Given the description of an element on the screen output the (x, y) to click on. 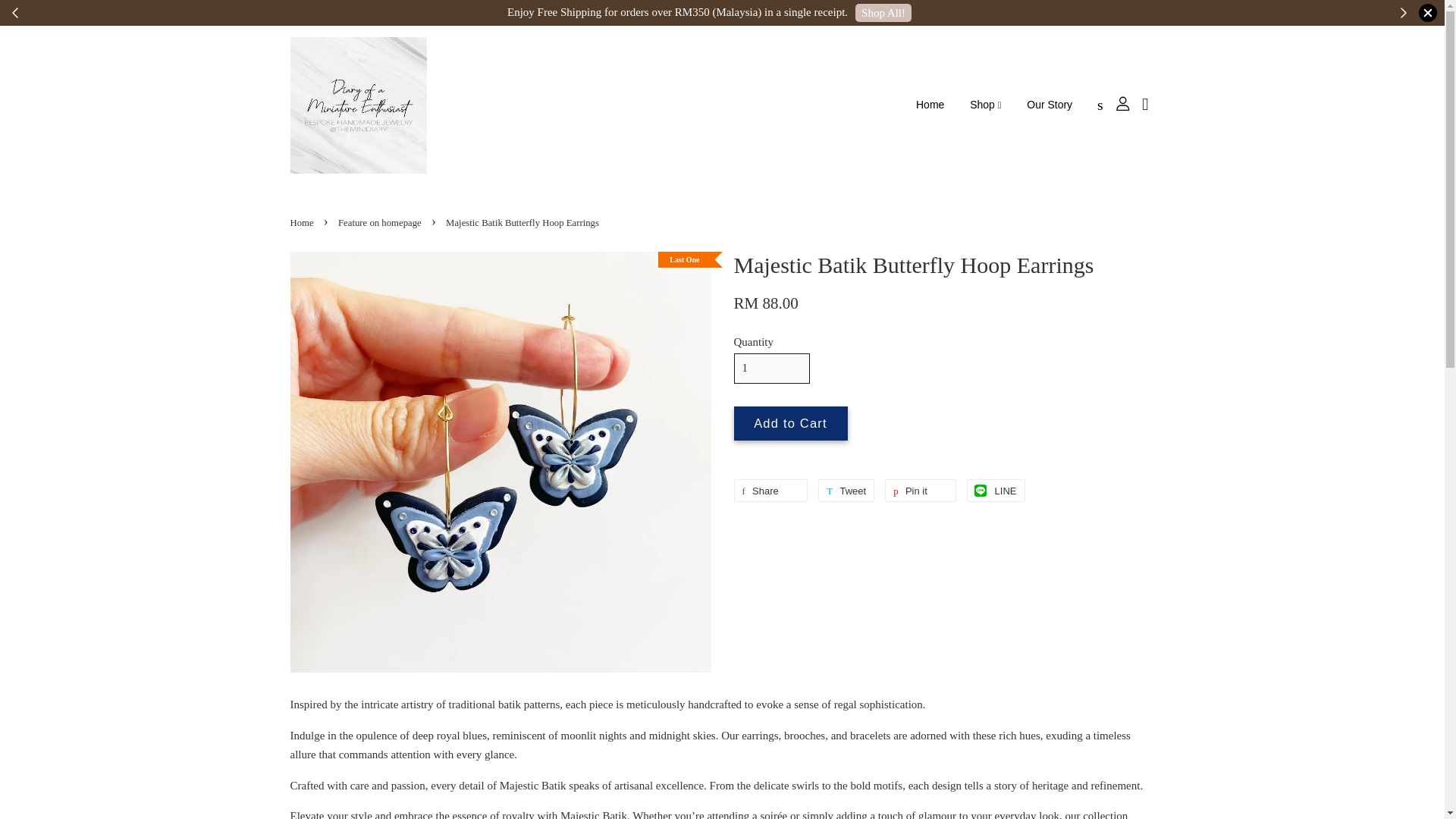
1 (771, 367)
Back to the homepage (303, 222)
icon-line (980, 490)
